Given the description of an element on the screen output the (x, y) to click on. 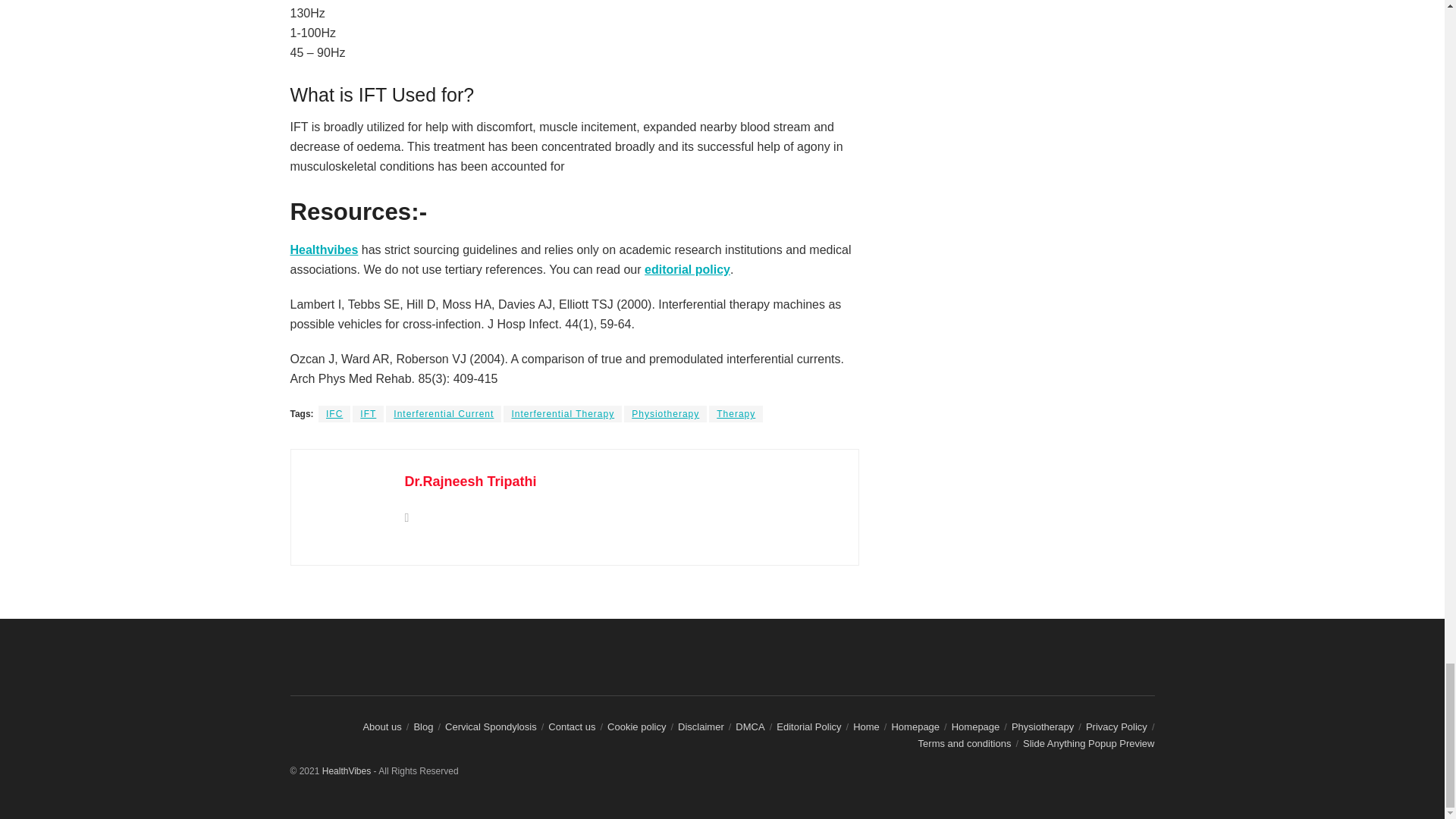
Healthvibes (323, 249)
editorial policy (687, 269)
IFC (334, 413)
IFT (368, 413)
Interferential Current (442, 413)
